Given the description of an element on the screen output the (x, y) to click on. 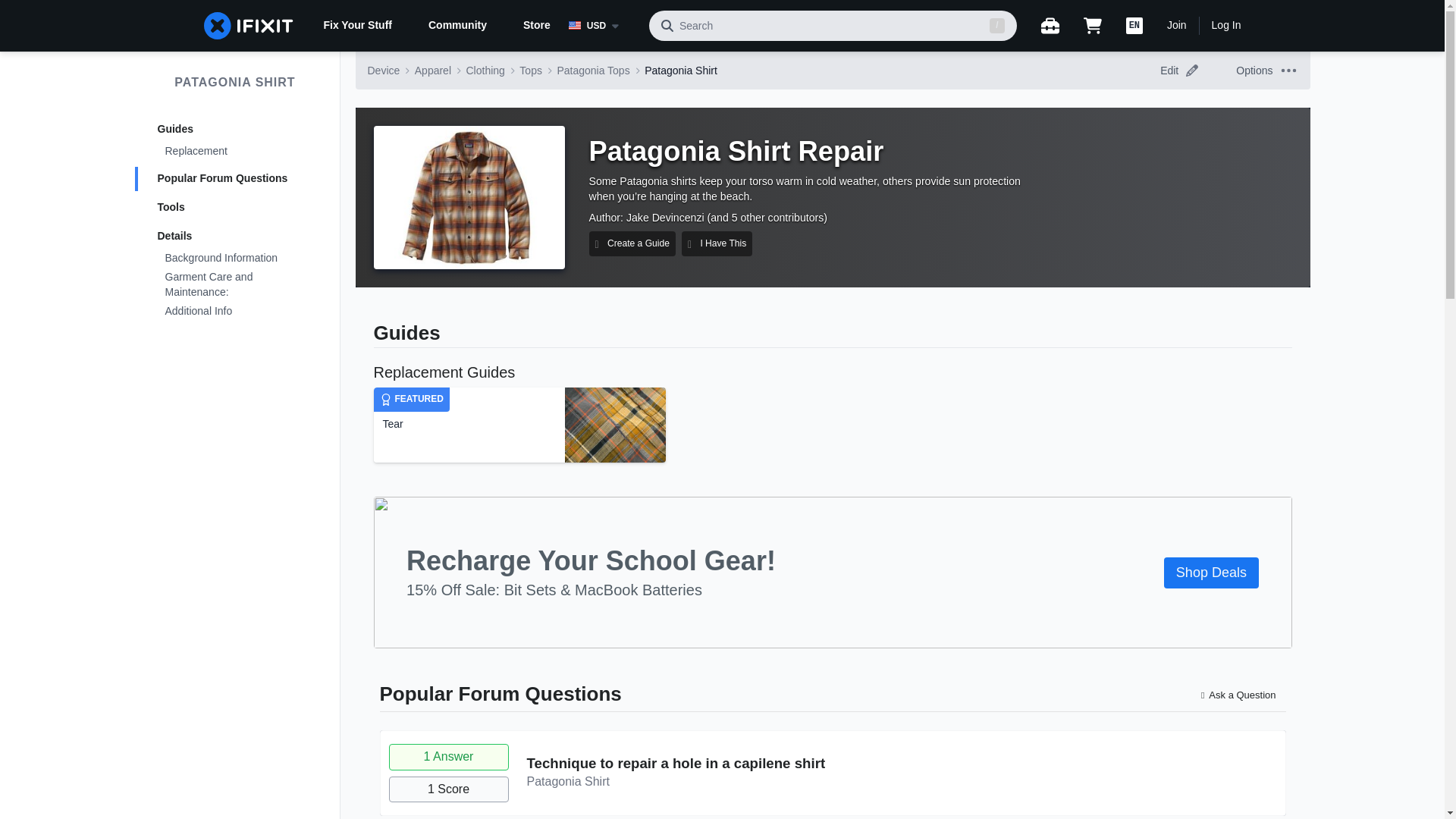
Tools (235, 207)
Garment Care and Maintenance: (235, 285)
Patagonia Shirt (681, 70)
Clothing (484, 70)
USD (603, 25)
Tops (530, 70)
Details (235, 236)
Patagonia Tops (592, 70)
Featured (384, 399)
Popular Forum Questions (235, 178)
